Given the description of an element on the screen output the (x, y) to click on. 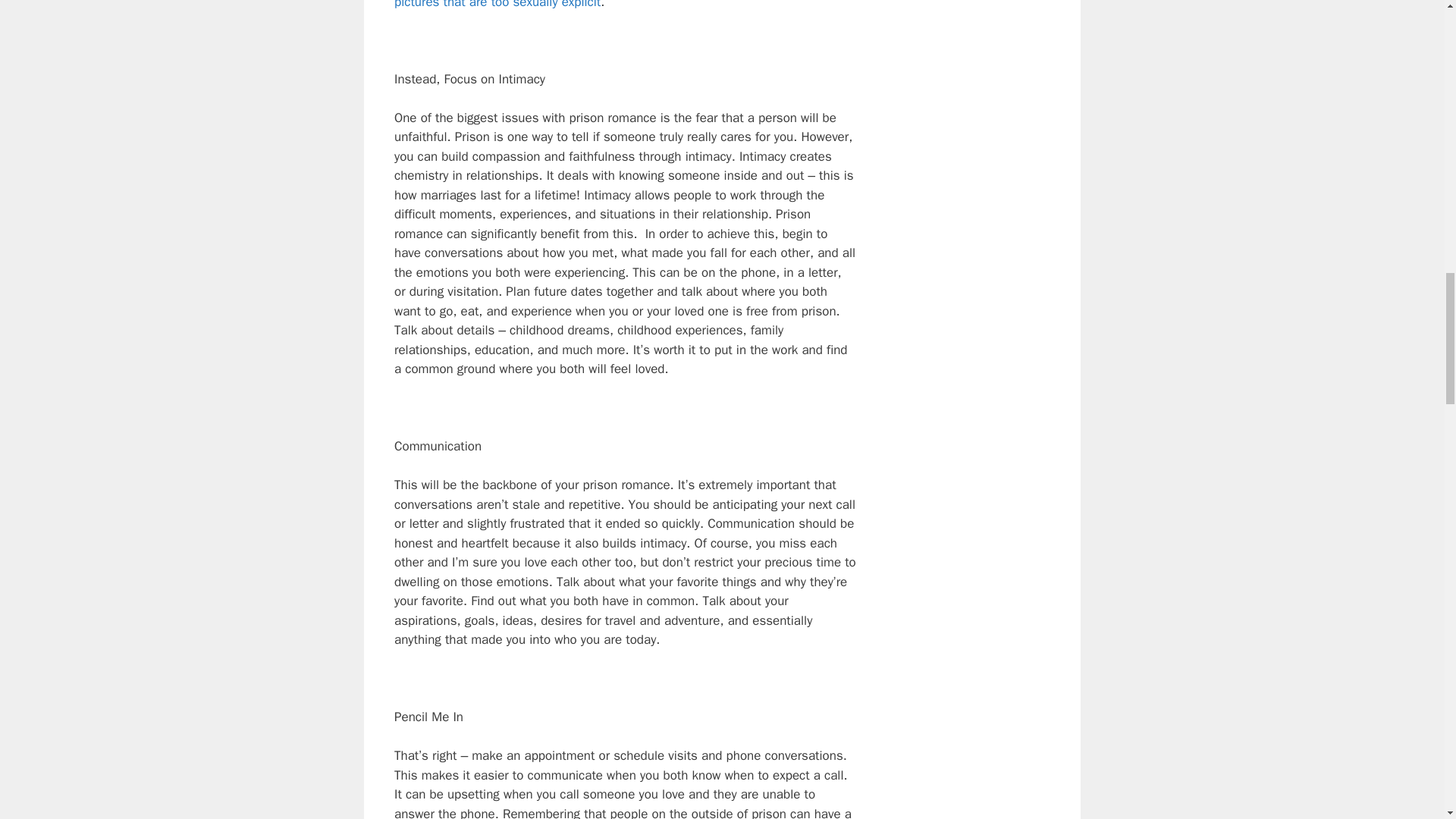
pictures that are too sexually explicit (496, 4)
